Given the description of an element on the screen output the (x, y) to click on. 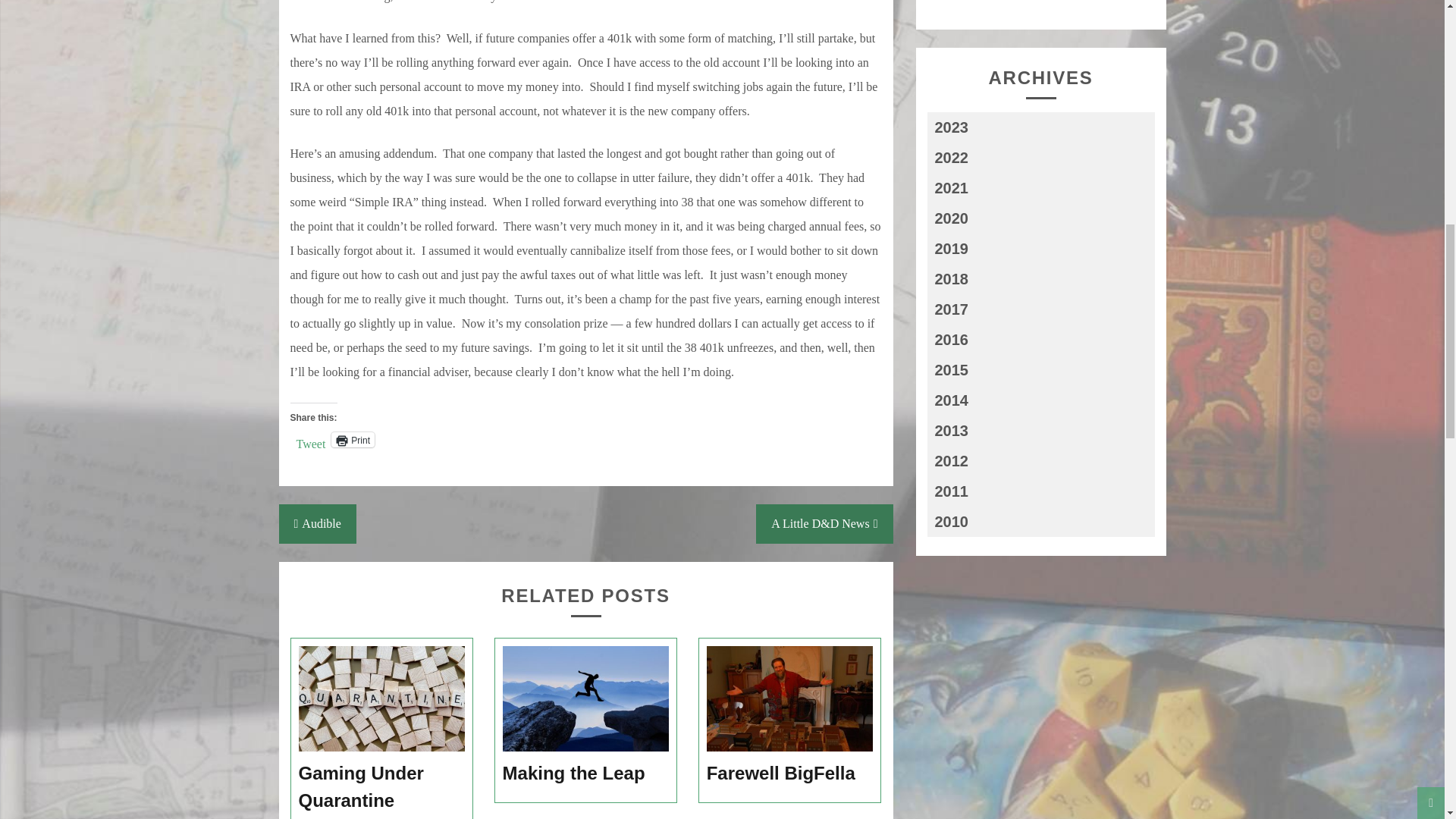
Audible (317, 523)
Farewell BigFella (789, 773)
Click to print (352, 439)
Print (352, 439)
Gaming Under Quarantine (381, 787)
Making the Leap (585, 773)
Tweet (309, 438)
